Given the description of an element on the screen output the (x, y) to click on. 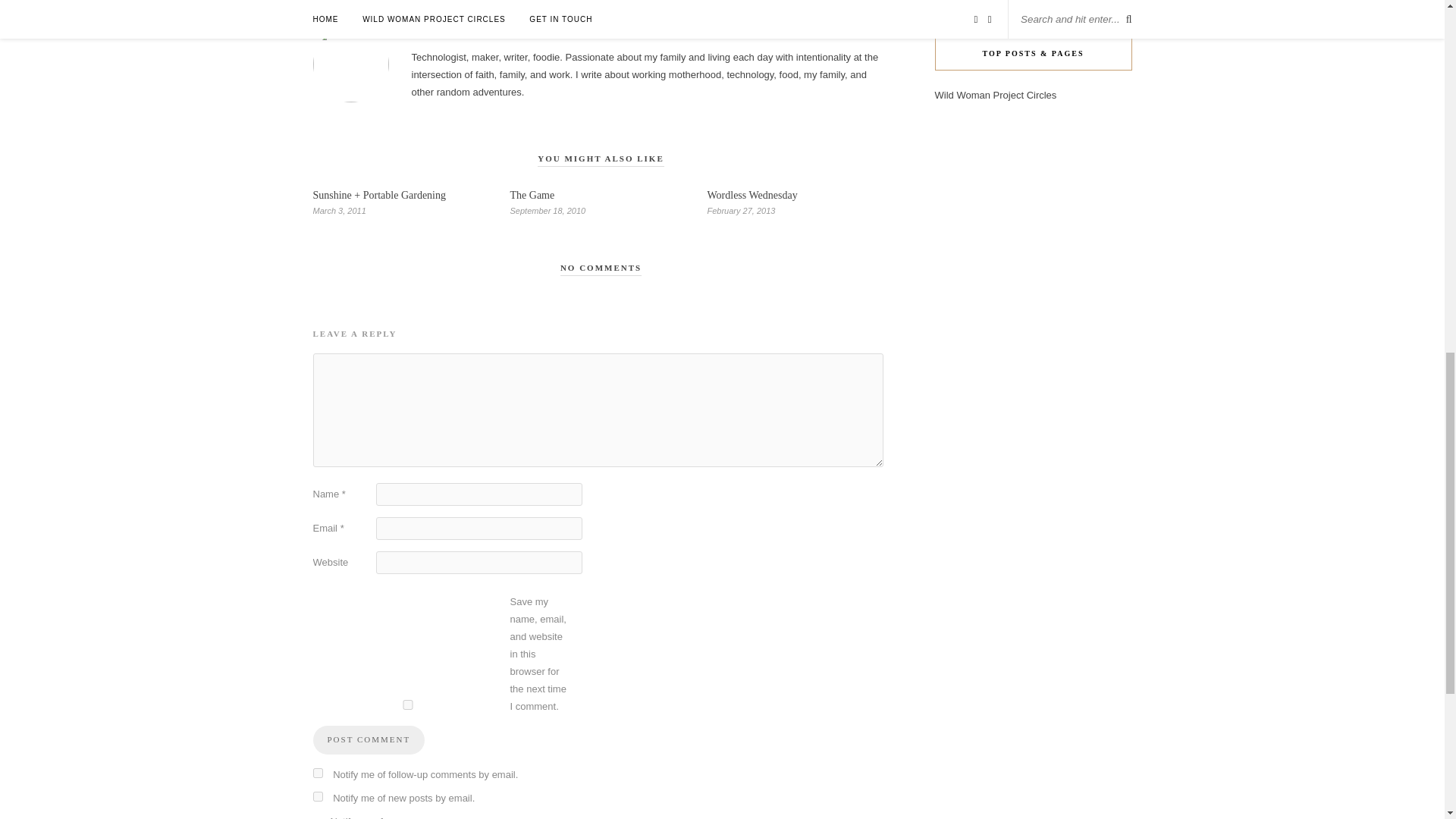
Dee (600, 34)
subscribe (317, 773)
Posts by Dee (600, 34)
Wordless Wednesday (751, 194)
subscribe (317, 796)
Post Comment (369, 739)
The Game (531, 194)
Post Comment (369, 739)
yes (407, 705)
